Given the description of an element on the screen output the (x, y) to click on. 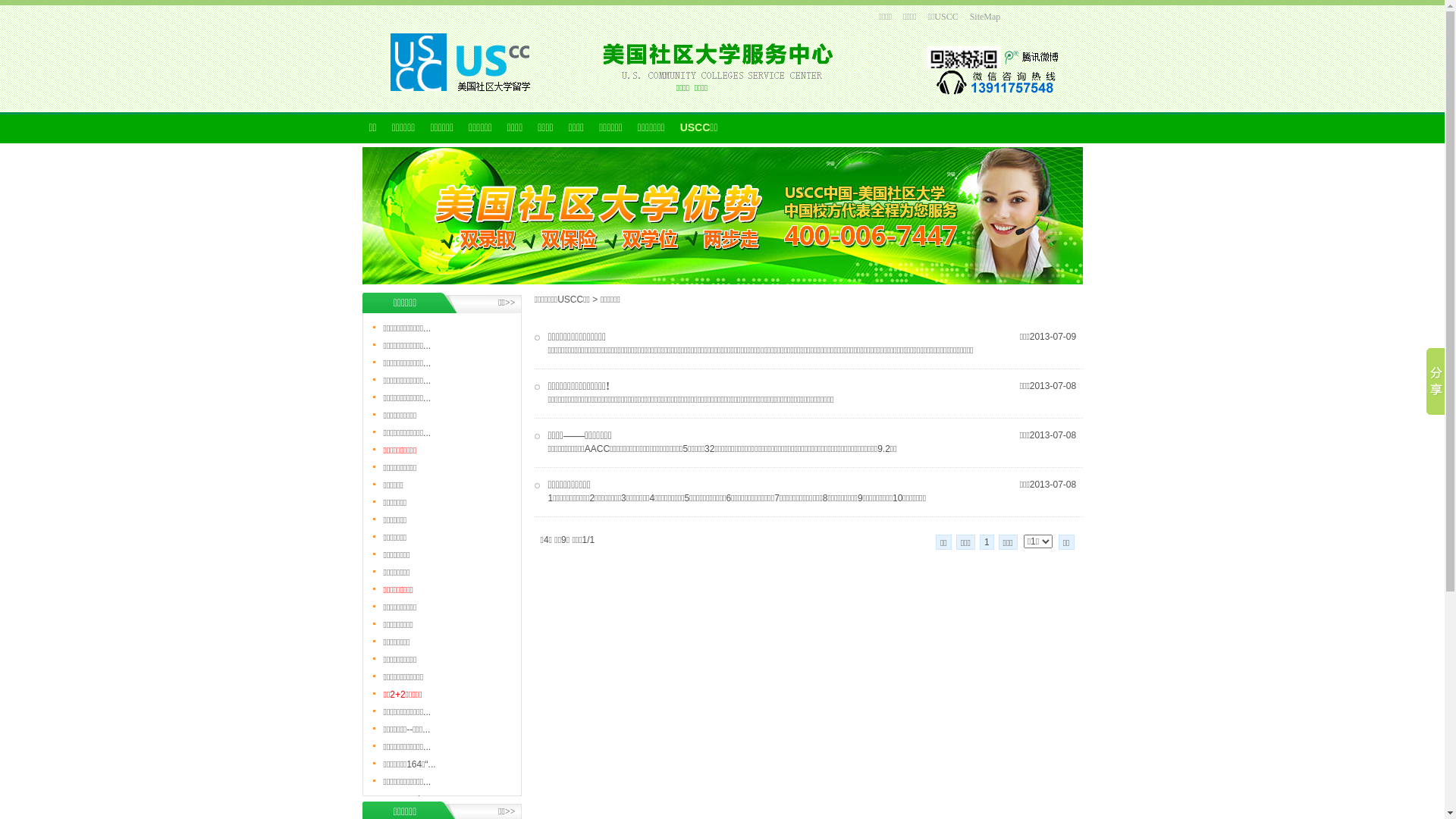
SiteMap Element type: text (985, 16)
